Given the description of an element on the screen output the (x, y) to click on. 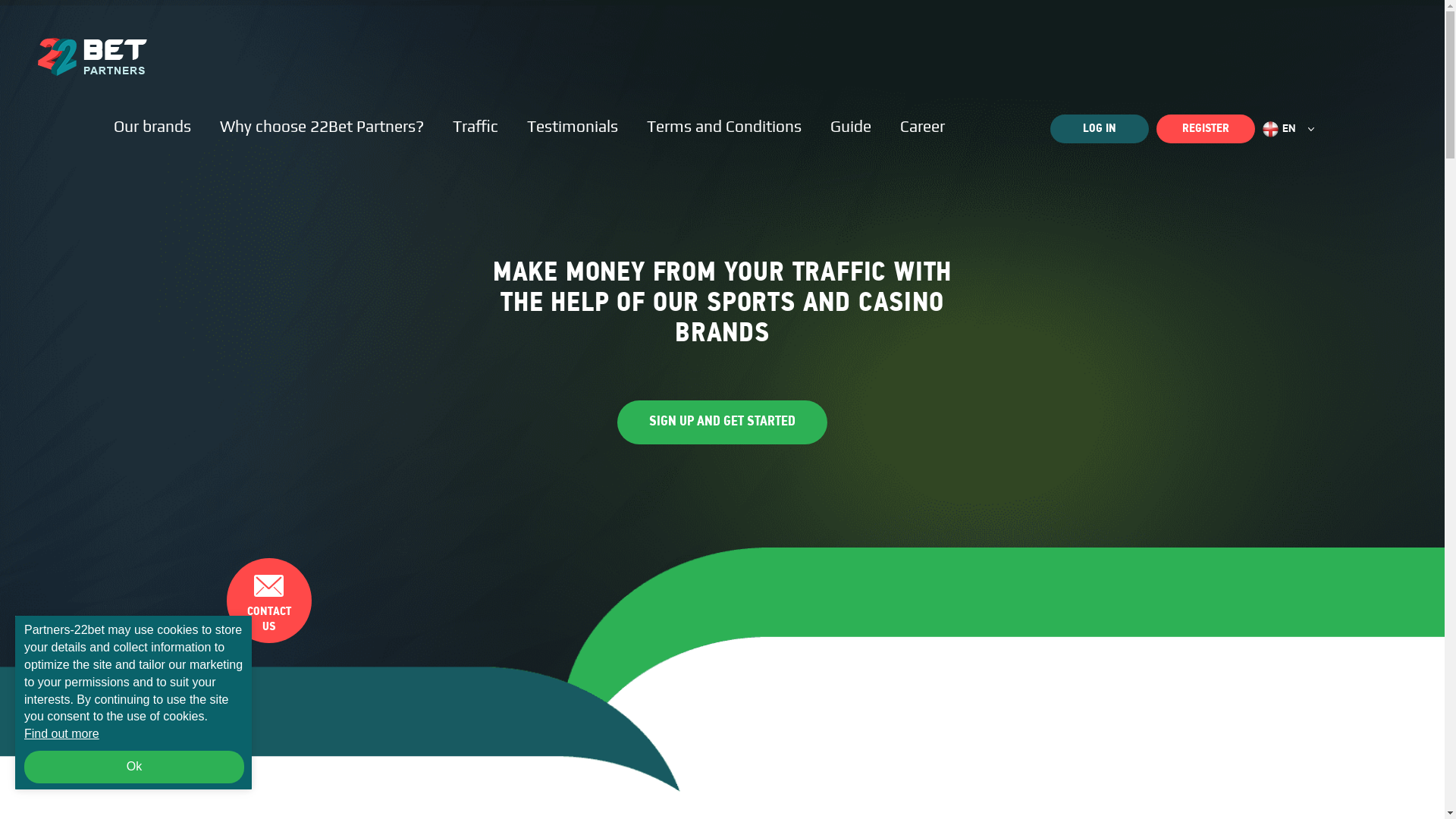
LOG IN Element type: text (1099, 128)
Ok Element type: text (134, 766)
Guide Element type: text (850, 128)
CONTACT US Element type: text (267, 600)
Career Element type: text (922, 128)
Find out more Element type: text (134, 734)
REGISTER Element type: text (1205, 128)
LOG IN Element type: text (1099, 128)
Terms and Conditions Element type: text (723, 128)
Why choose 22Bet Partners? Element type: text (321, 126)
REGISTER Element type: text (1205, 128)
Testimonials Element type: text (572, 126)
SIGN UP AND GET STARTED Element type: text (722, 422)
Our brands Element type: text (152, 126)
Traffic Element type: text (475, 126)
